Given the description of an element on the screen output the (x, y) to click on. 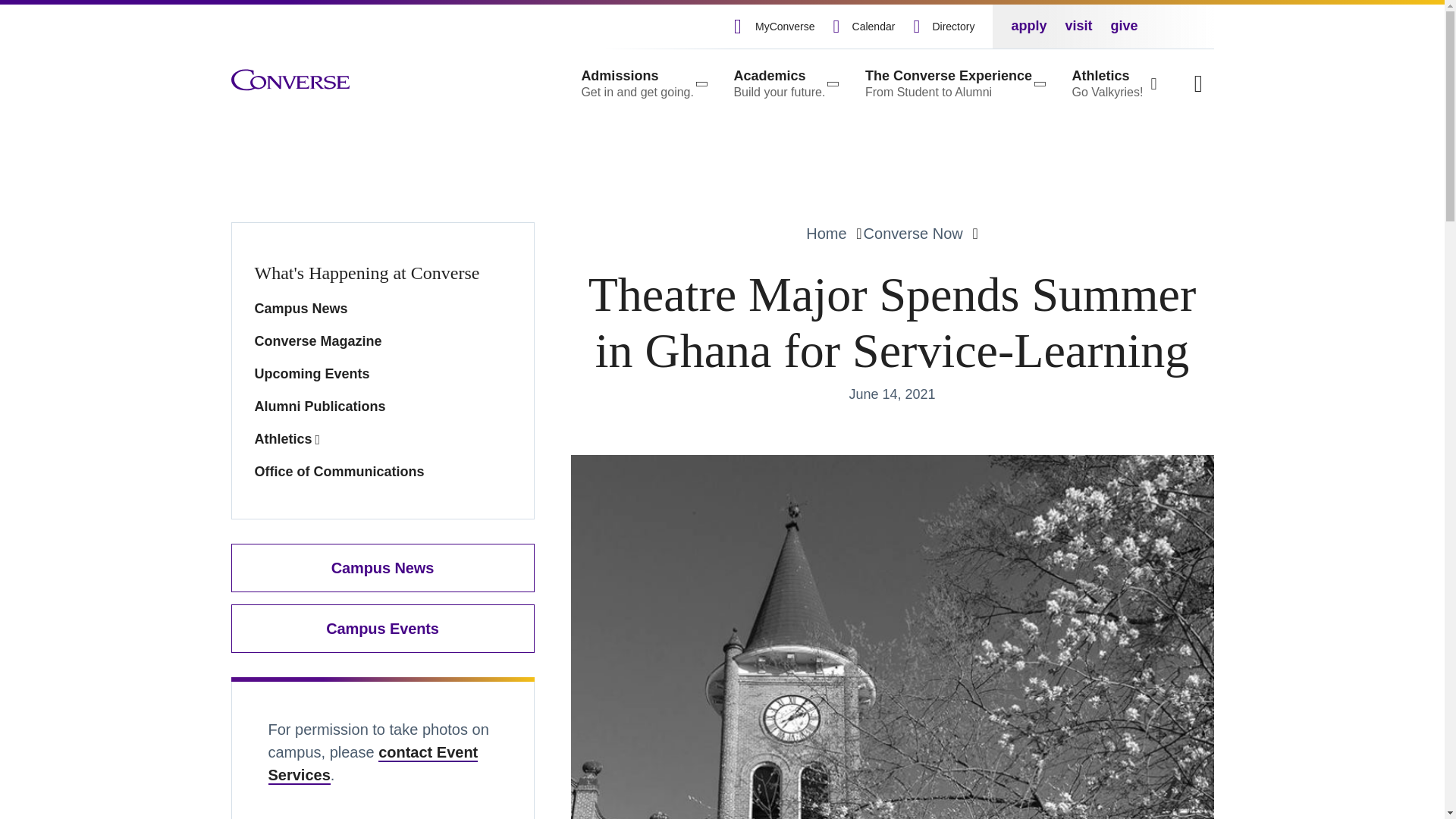
Open Site Search (1198, 83)
Converse University (289, 80)
Toggle Sub-Menu (953, 83)
Toggle Sub-Menu (784, 83)
Toggle Sub-Menu (642, 83)
